Given the description of an element on the screen output the (x, y) to click on. 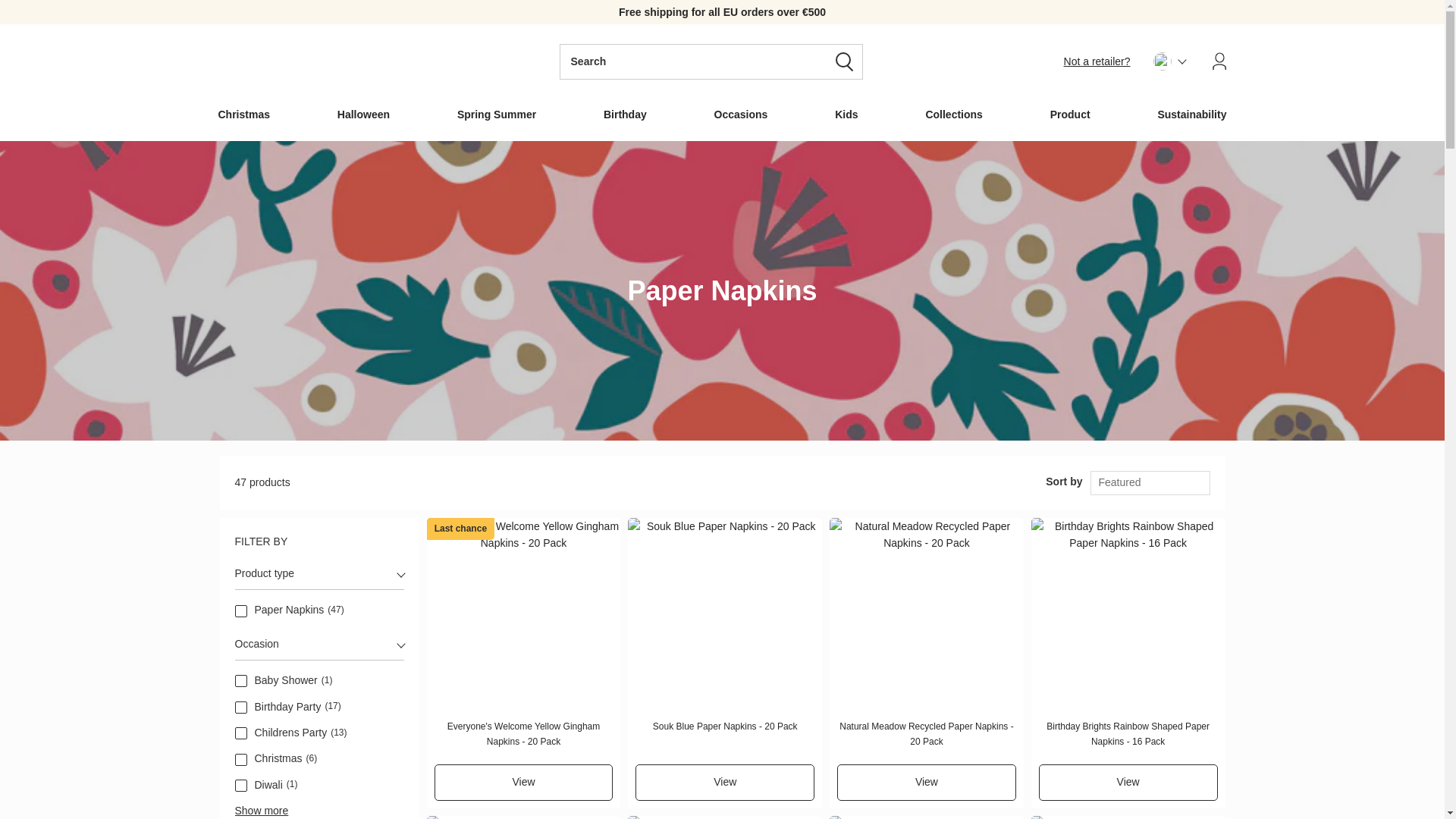
Paper Napkins (240, 611)
Diwali (240, 785)
Childrens Party (240, 733)
Birthday Party (240, 707)
Christmas (240, 759)
Baby Shower (240, 680)
